Given the description of an element on the screen output the (x, y) to click on. 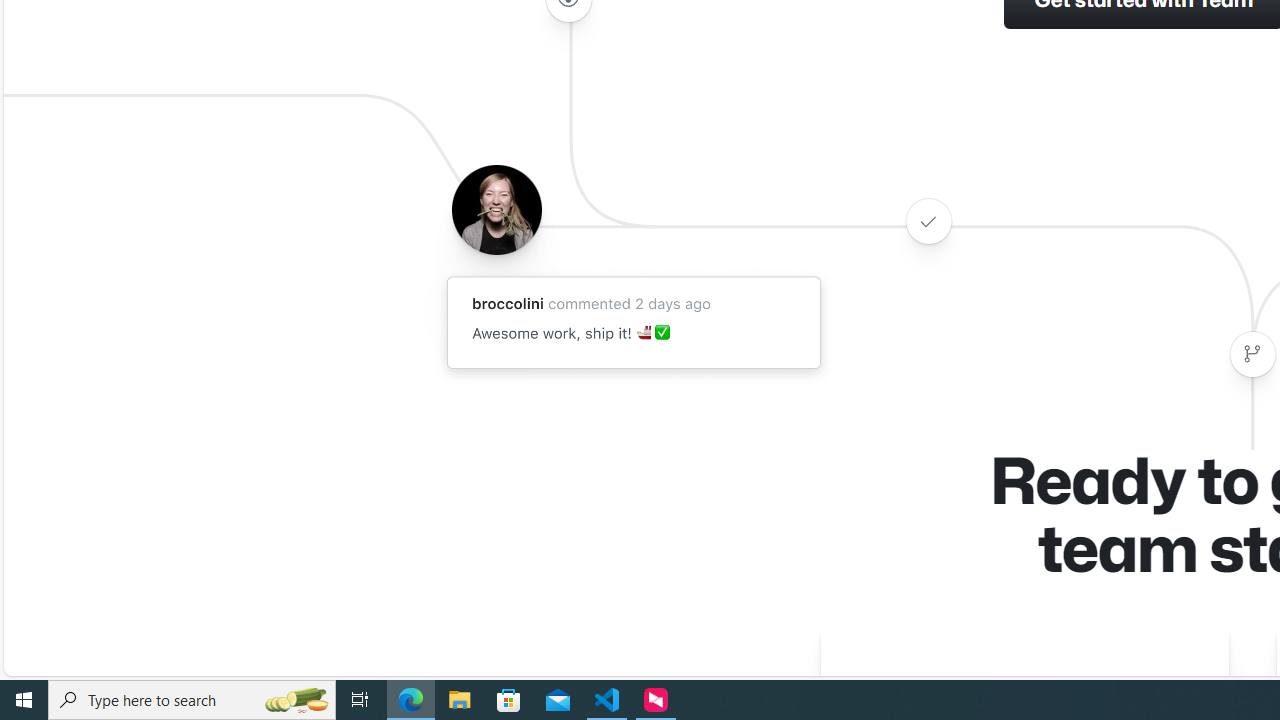
Class: color-fg-muted width-full (1252, 354)
Avatar of the user broccolini (495, 209)
